Given the description of an element on the screen output the (x, y) to click on. 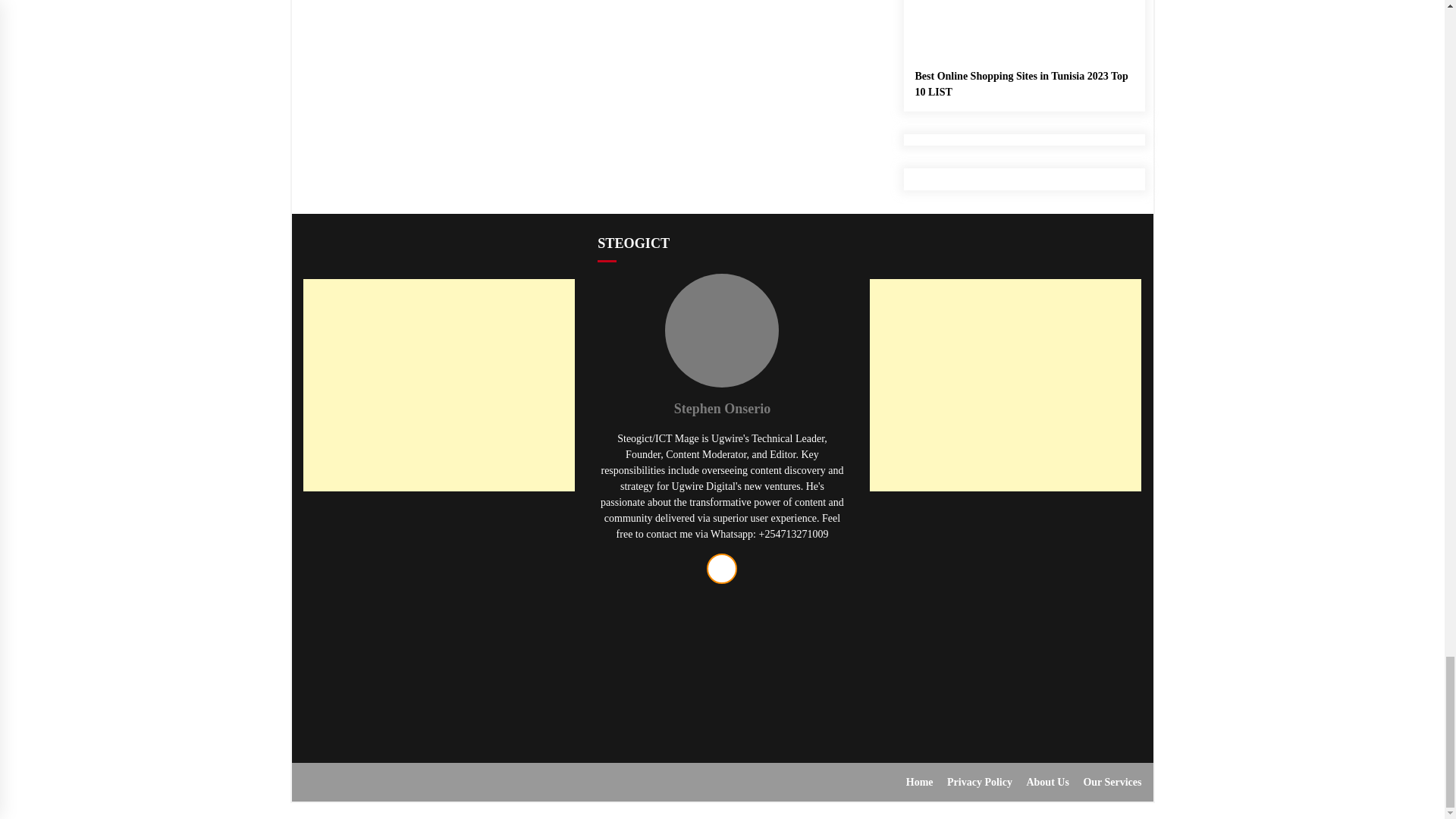
Best Online Shopping Sites in Tunisia 2023 Top 10 LIST (1023, 49)
Advertisement (1005, 612)
Advertisement (438, 612)
